Given the description of an element on the screen output the (x, y) to click on. 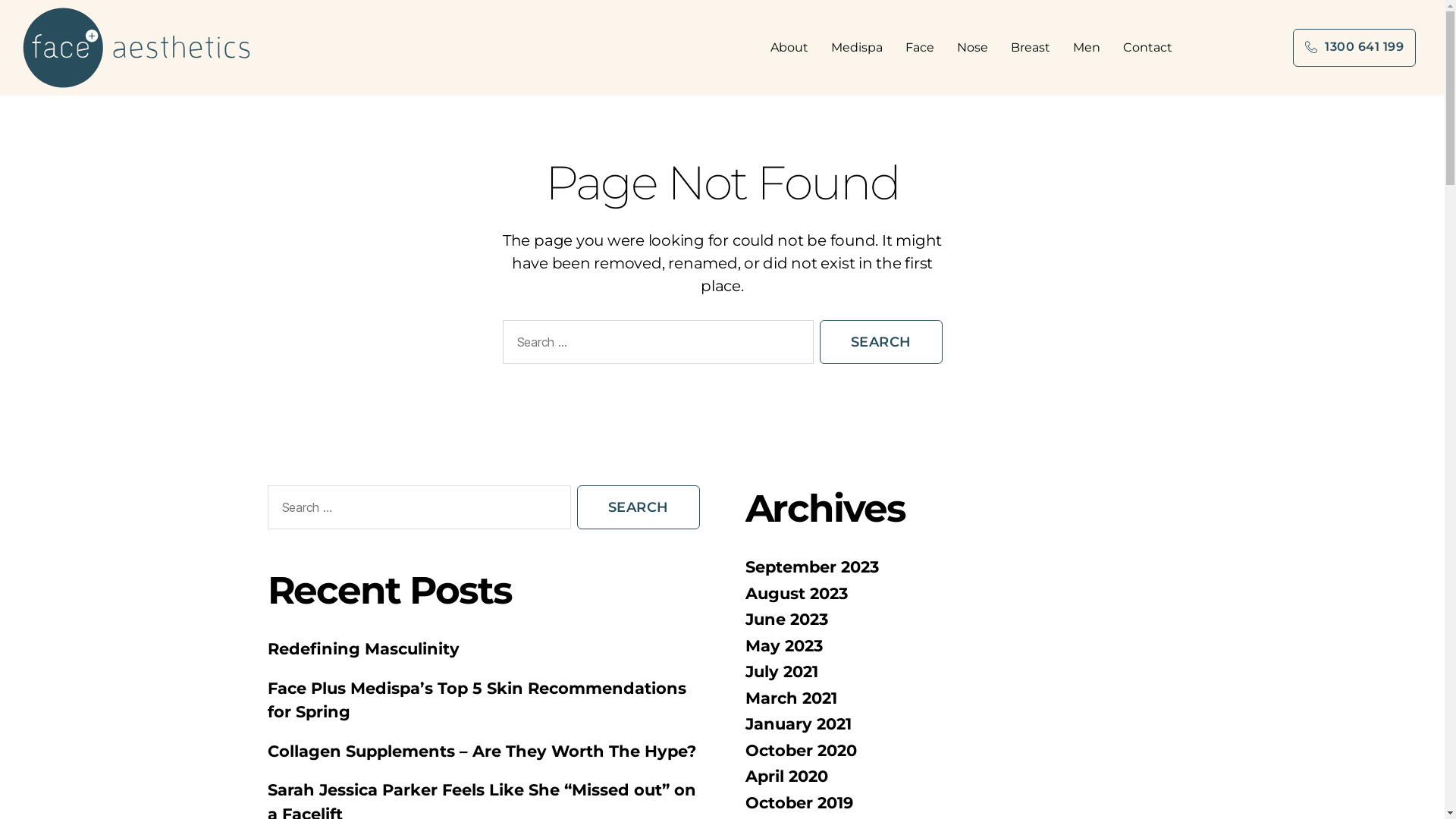
January 2021 Element type: text (797, 723)
June 2023 Element type: text (785, 618)
Men Element type: text (1090, 47)
July 2021 Element type: text (780, 671)
March 2021 Element type: text (790, 697)
April 2020 Element type: text (785, 775)
About Element type: text (792, 47)
May 2023 Element type: text (783, 645)
Medispa Element type: text (860, 47)
October 2020 Element type: text (800, 749)
Search Element type: text (880, 342)
Face Element type: text (923, 47)
1300 641 199 Element type: text (1354, 47)
September 2023 Element type: text (811, 566)
Contact Element type: text (1147, 47)
Breast Element type: text (1033, 47)
Search Element type: text (637, 507)
Redefining Masculinity Element type: text (362, 648)
August 2023 Element type: text (795, 592)
October 2019 Element type: text (798, 802)
Nose Element type: text (976, 47)
